Given the description of an element on the screen output the (x, y) to click on. 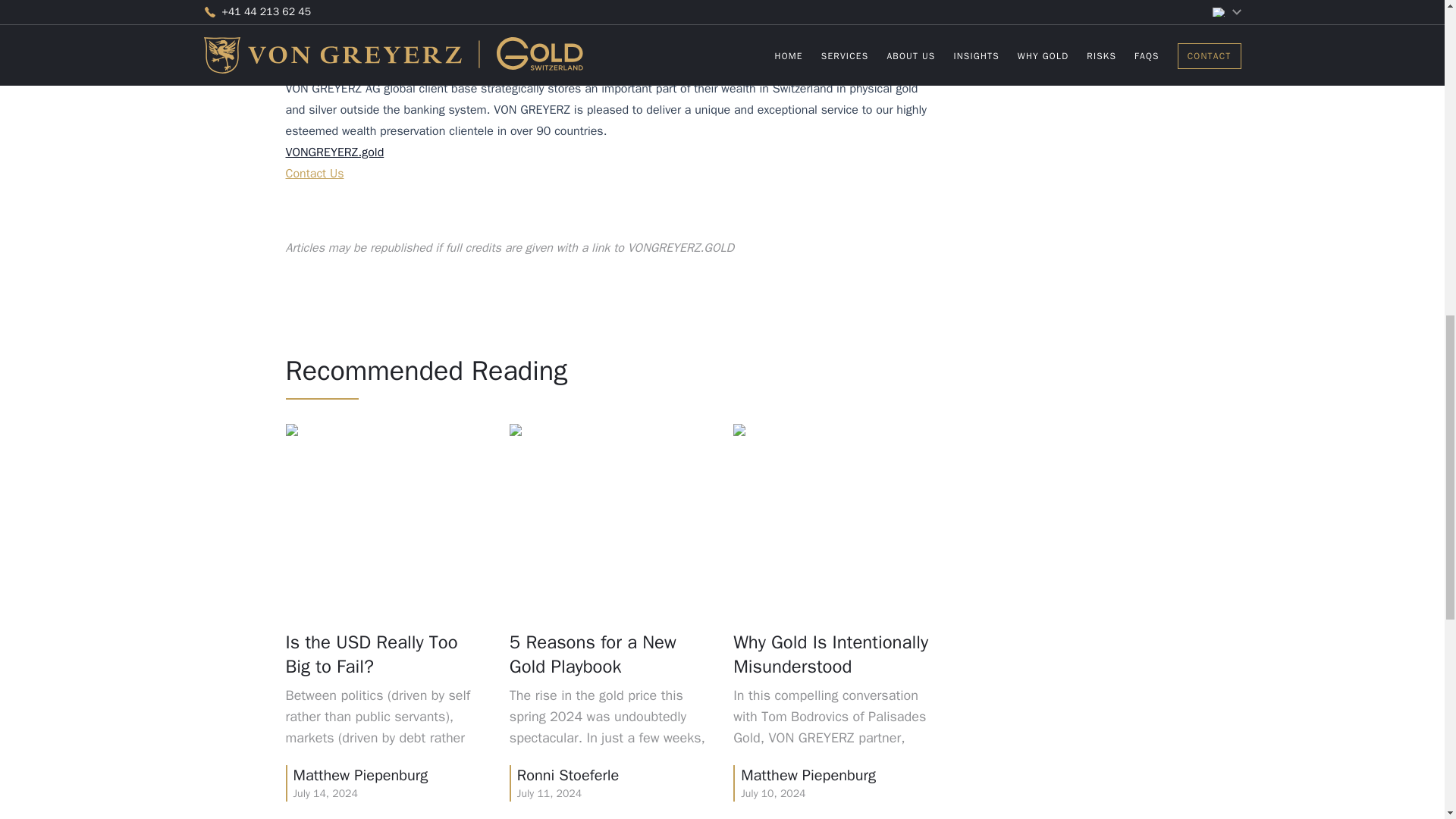
Contact Us (314, 173)
VONGREYERZ.gold (334, 151)
Why Gold Is Intentionally Misunderstood (1060, 105)
MIS-REPORTED INFLATION IS JUST MIS-REPORTED THEFT (1060, 305)
